Given the description of an element on the screen output the (x, y) to click on. 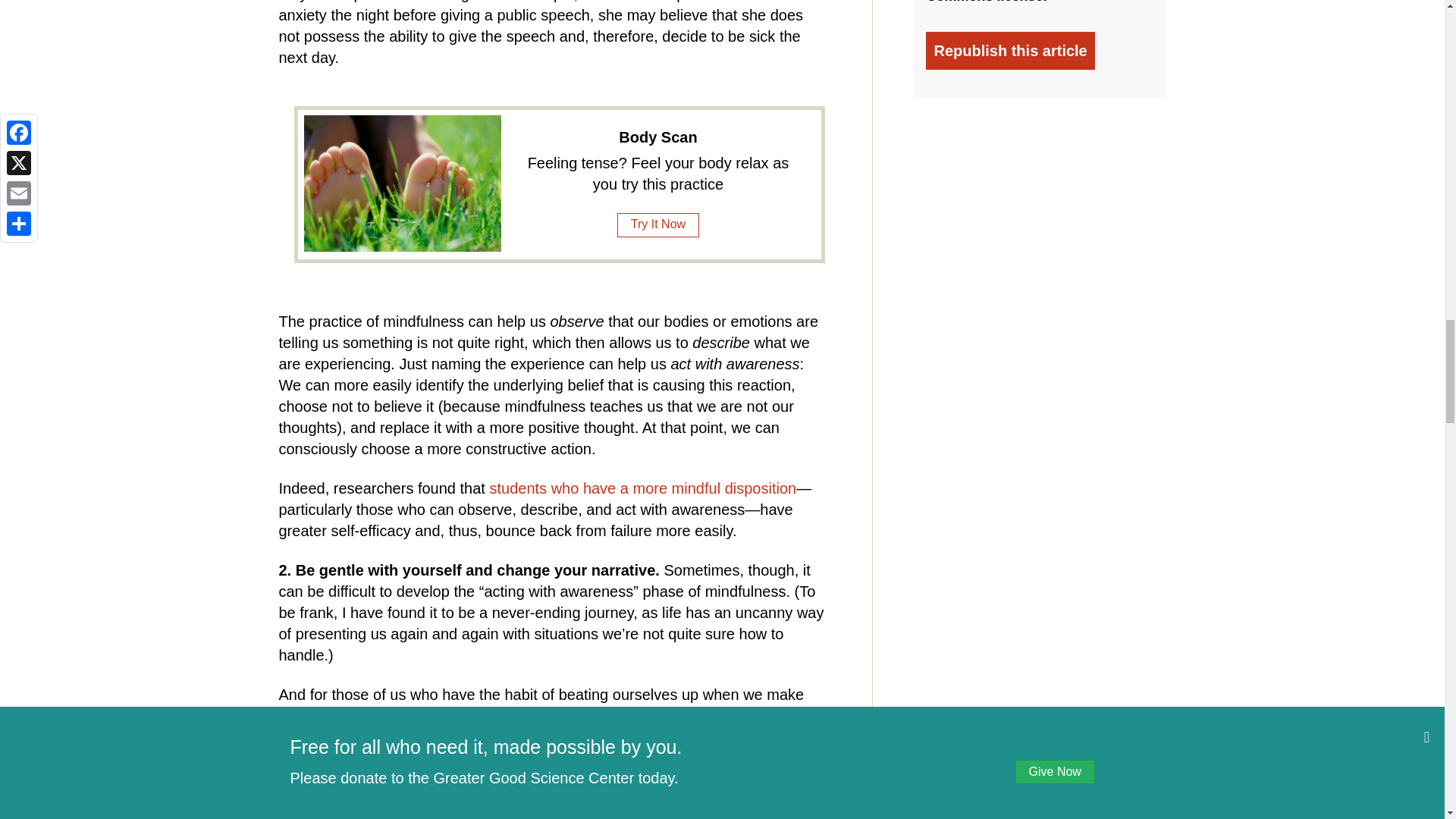
Republish this article (1010, 50)
